Given the description of an element on the screen output the (x, y) to click on. 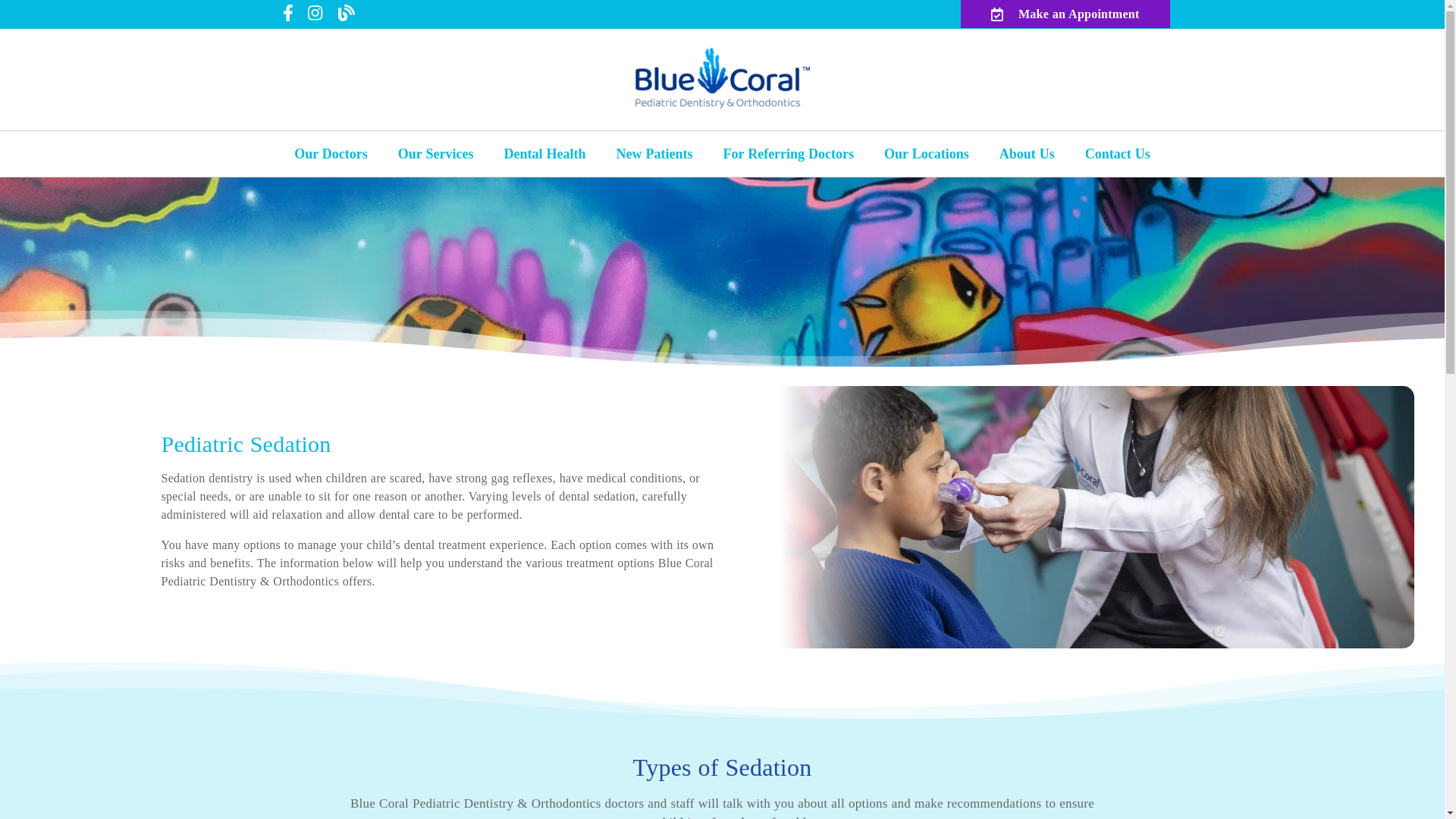
Our Doctors (331, 153)
Make an Appointment (1064, 13)
